Given the description of an element on the screen output the (x, y) to click on. 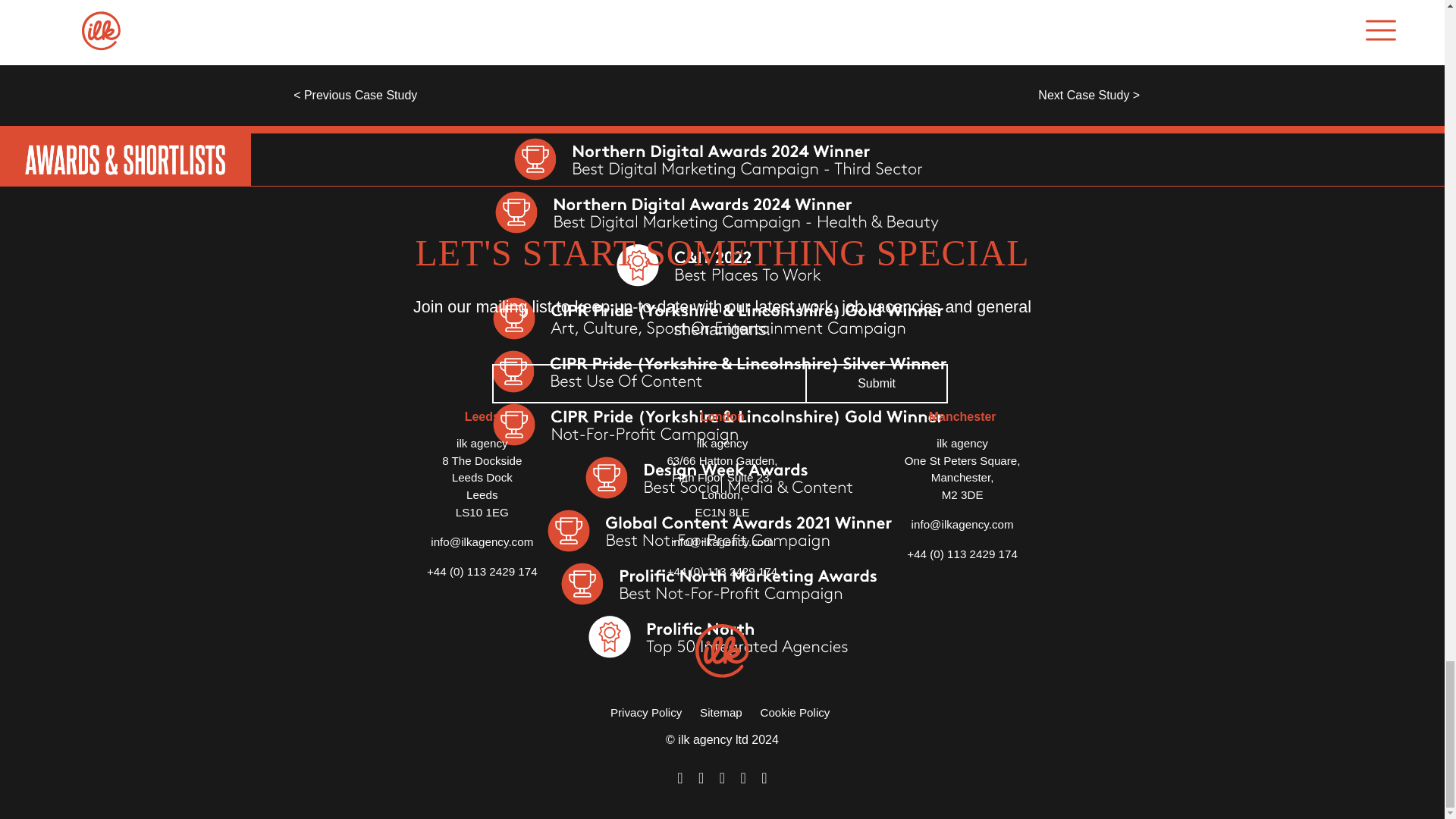
Cookie Policy (794, 712)
Sitemap (721, 712)
Submit (877, 383)
Privacy Policy (646, 712)
Submit (877, 383)
